Given the description of an element on the screen output the (x, y) to click on. 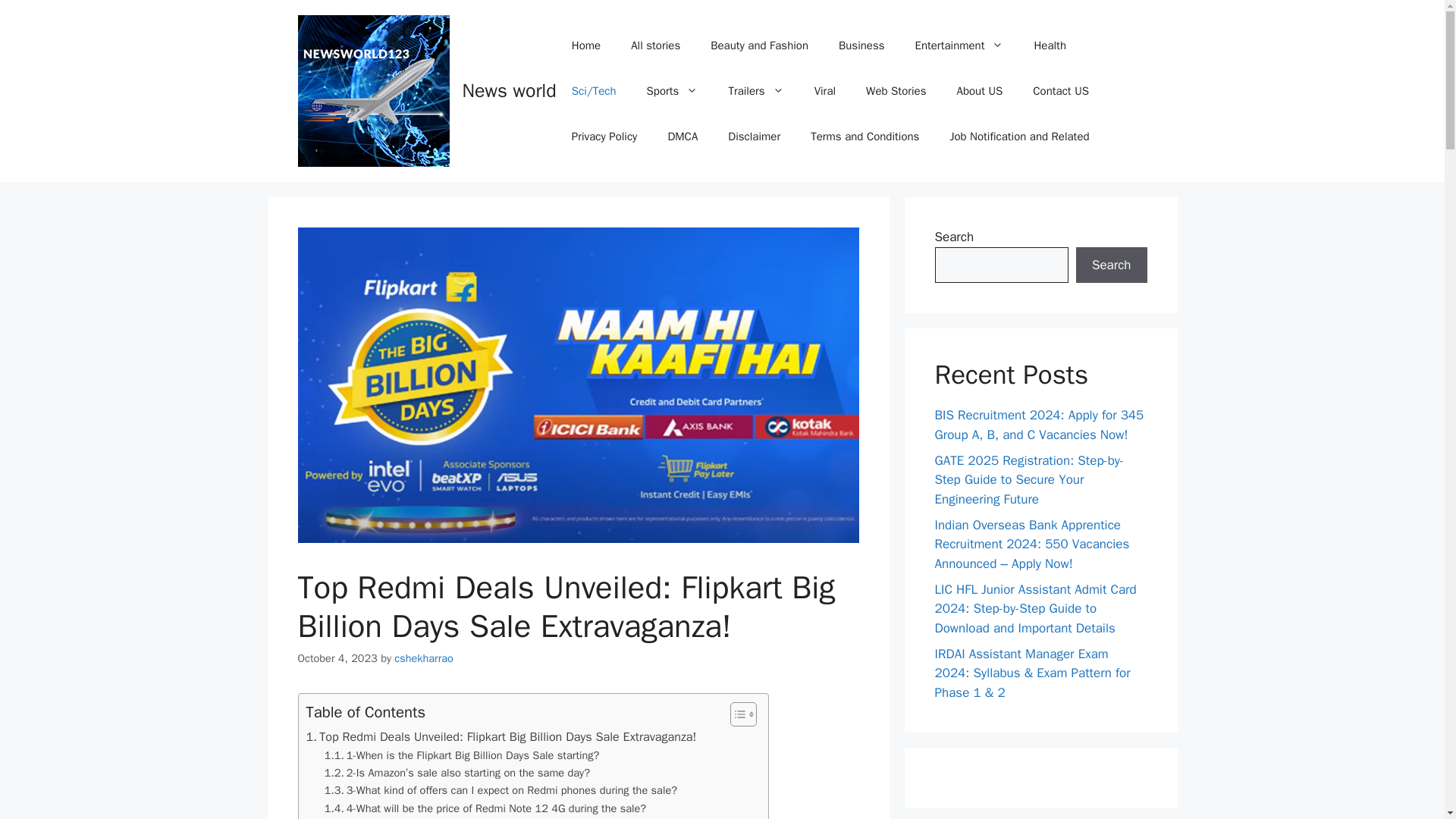
1-When is the Flipkart Big Billion Days Sale starting? (461, 755)
Contact US (1060, 90)
Job Notification and Related (1018, 135)
Terms and Conditions (864, 135)
Sports (672, 90)
Business (861, 44)
cshekharrao (423, 658)
About US (978, 90)
